Given the description of an element on the screen output the (x, y) to click on. 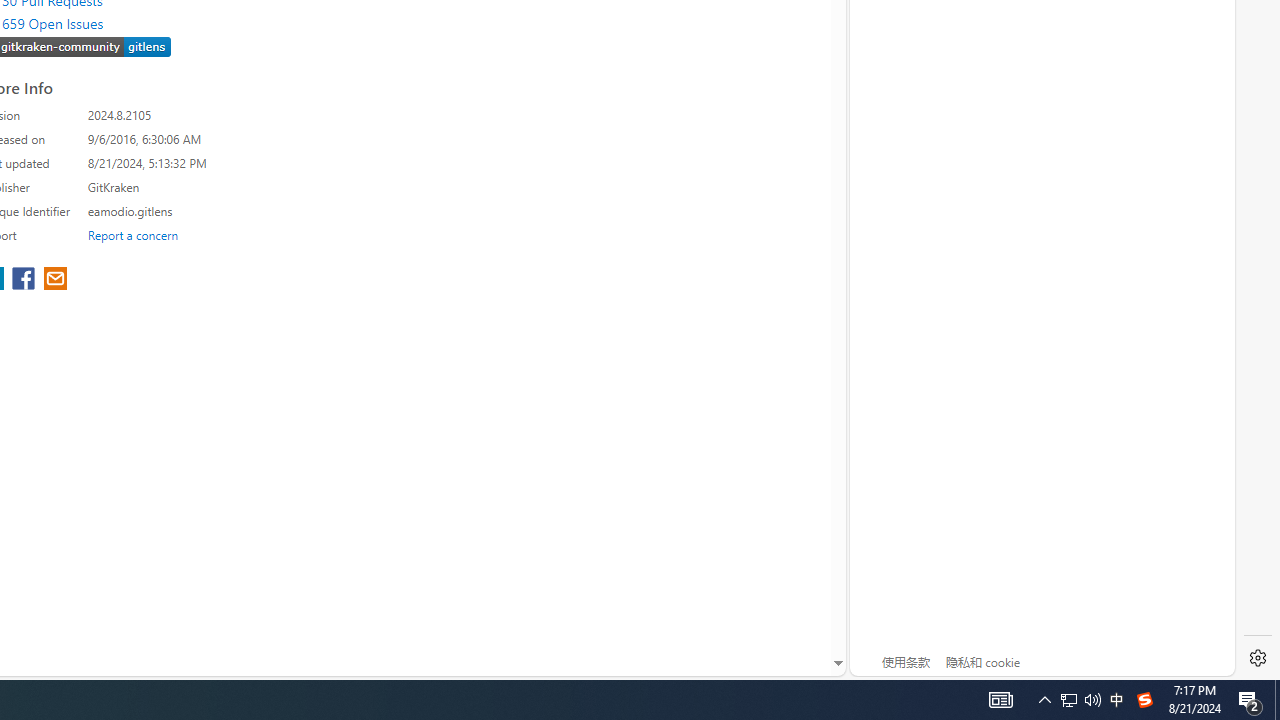
share extension on facebook (26, 280)
Report a concern (133, 234)
share extension on email (54, 280)
